Given the description of an element on the screen output the (x, y) to click on. 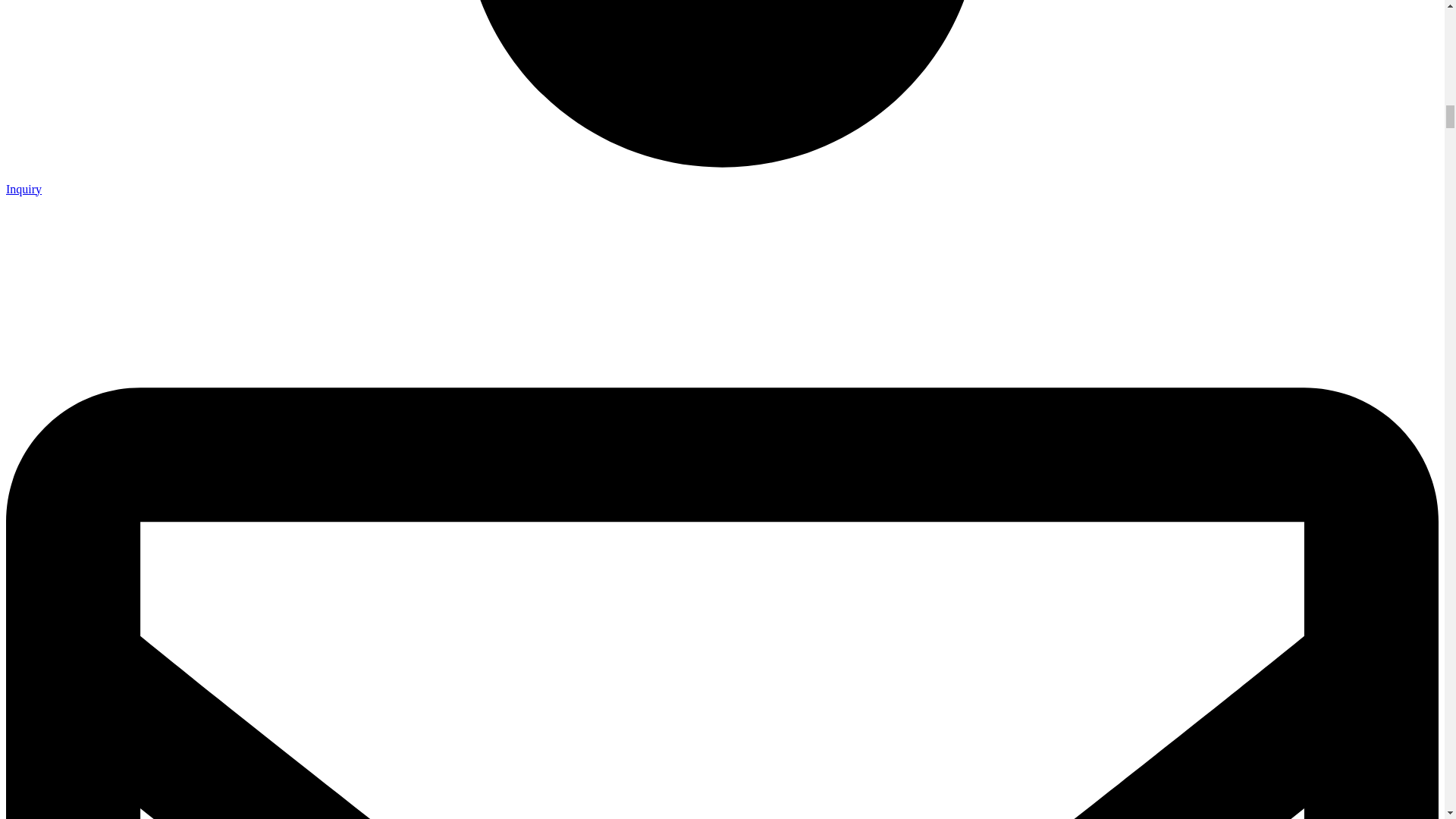
Inquiry (23, 187)
